Given the description of an element on the screen output the (x, y) to click on. 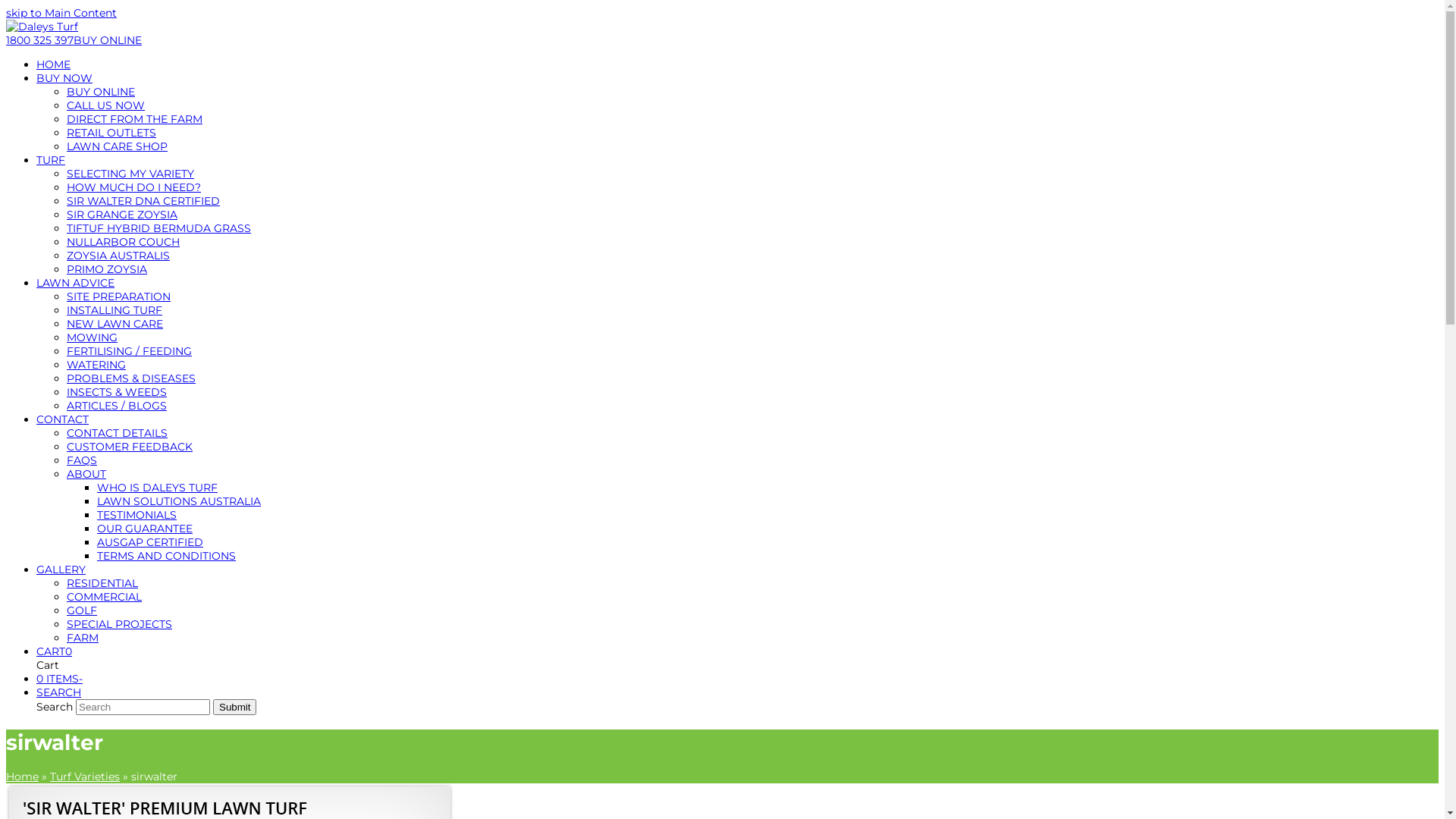
RESIDENTIAL Element type: text (102, 582)
BUY ONLINE Element type: text (107, 40)
TURF Element type: text (50, 159)
ARTICLES / BLOGS Element type: text (116, 405)
TERMS AND CONDITIONS Element type: text (166, 555)
NEW LAWN CARE Element type: text (114, 323)
GALLERY Element type: text (60, 569)
INSTALLING TURF Element type: text (114, 309)
HOME Element type: text (53, 64)
WHO IS DALEYS TURF Element type: text (157, 487)
Home Element type: text (22, 775)
WATERING Element type: text (95, 364)
1800 325 397 Element type: text (39, 40)
CONTACT Element type: text (62, 419)
BUY ONLINE Element type: text (100, 91)
GOLF Element type: text (81, 610)
FAQS Element type: text (81, 460)
LAWN CARE SHOP Element type: text (116, 146)
LAWN ADVICE Element type: text (75, 282)
SELECTING MY VARIETY Element type: text (130, 173)
MOWING Element type: text (91, 337)
PROBLEMS & DISEASES Element type: text (130, 378)
skip to Main Content Element type: text (61, 12)
FERTILISING / FEEDING Element type: text (128, 350)
SIR WALTER DNA CERTIFIED Element type: text (142, 200)
CUSTOMER FEEDBACK Element type: text (129, 446)
FARM Element type: text (82, 637)
DIRECT FROM THE FARM Element type: text (134, 118)
ABOUT Element type: text (86, 473)
TIFTUF HYBRID BERMUDA GRASS Element type: text (158, 228)
CART0 Element type: text (54, 651)
OUR GUARANTEE Element type: text (144, 528)
SPECIAL PROJECTS Element type: text (119, 623)
TESTIMONIALS Element type: text (136, 514)
AUSGAP CERTIFIED Element type: text (150, 542)
CALL US NOW Element type: text (105, 105)
COMMERCIAL Element type: text (103, 596)
CONTACT DETAILS Element type: text (116, 432)
Turf Varieties Element type: text (84, 775)
BUY NOW Element type: text (64, 77)
RETAIL OUTLETS Element type: text (111, 132)
SIR GRANGE ZOYSIA Element type: text (121, 214)
Submit Element type: text (234, 707)
PRIMO ZOYSIA Element type: text (106, 269)
0 ITEMS- Element type: text (59, 678)
LAWN SOLUTIONS AUSTRALIA Element type: text (178, 501)
ZOYSIA AUSTRALIS Element type: text (117, 255)
NULLARBOR COUCH Element type: text (122, 241)
SEARCH Element type: text (58, 692)
HOW MUCH DO I NEED? Element type: text (133, 187)
SITE PREPARATION Element type: text (118, 296)
INSECTS & WEEDS Element type: text (116, 391)
